Given the description of an element on the screen output the (x, y) to click on. 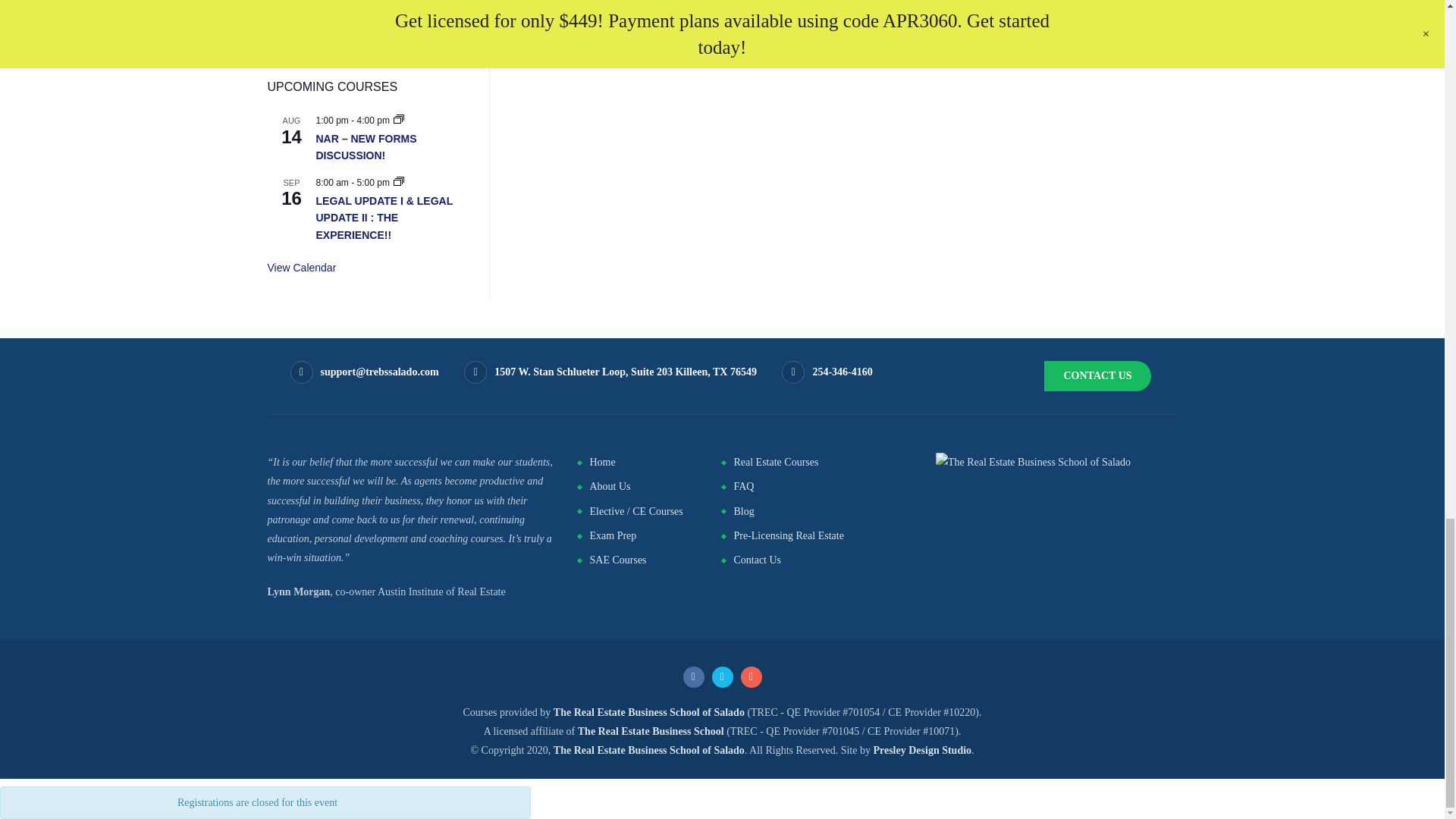
Event Series (398, 120)
Event Series (398, 182)
Event Series (398, 180)
Event Series (398, 118)
View more events. (301, 267)
